Given the description of an element on the screen output the (x, y) to click on. 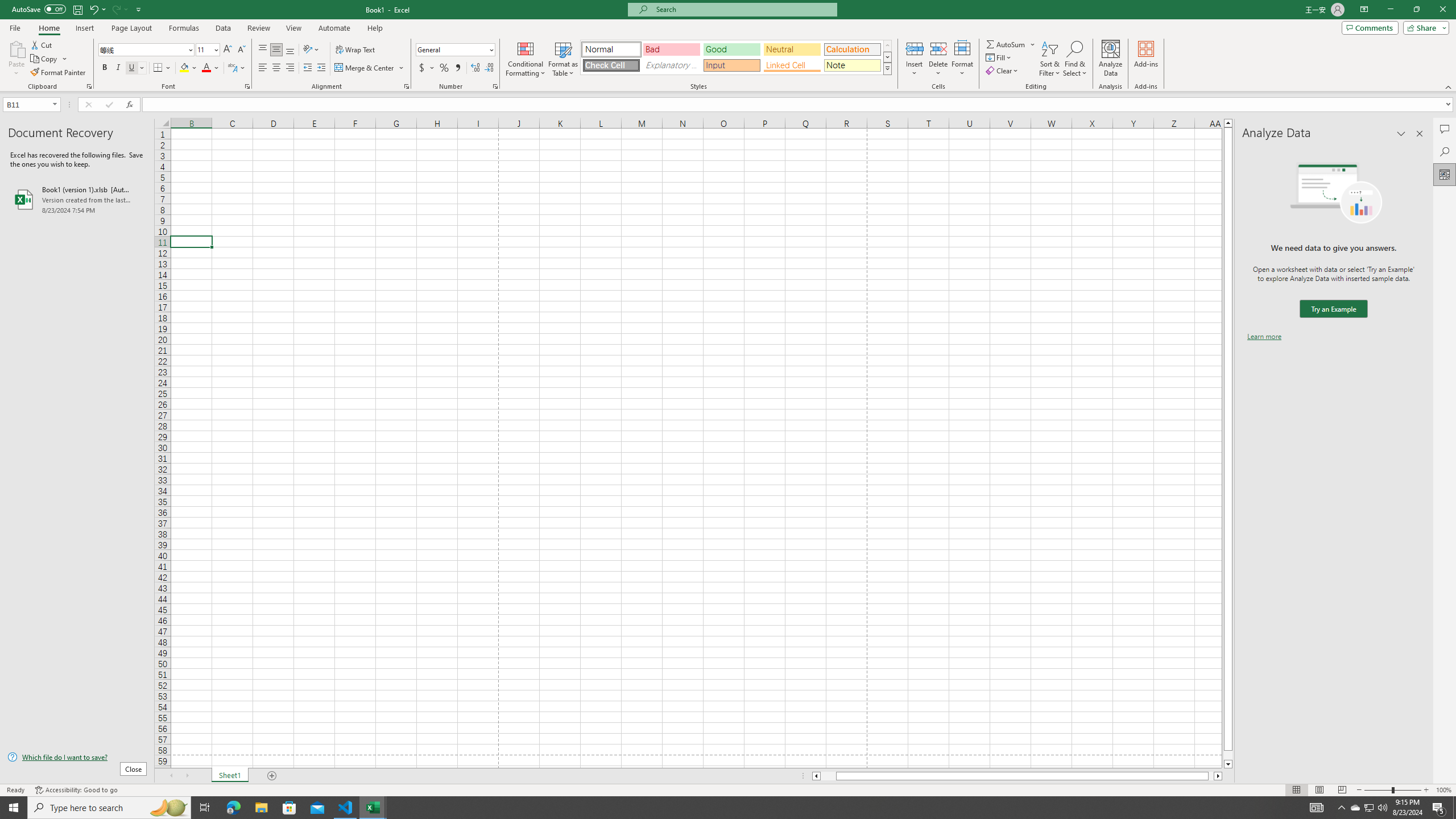
Format Painter (58, 72)
Row up (887, 45)
Italic (118, 67)
Increase Indent (320, 67)
Number Format (455, 49)
Row Down (887, 56)
Paste (16, 48)
Align Left (262, 67)
